Given the description of an element on the screen output the (x, y) to click on. 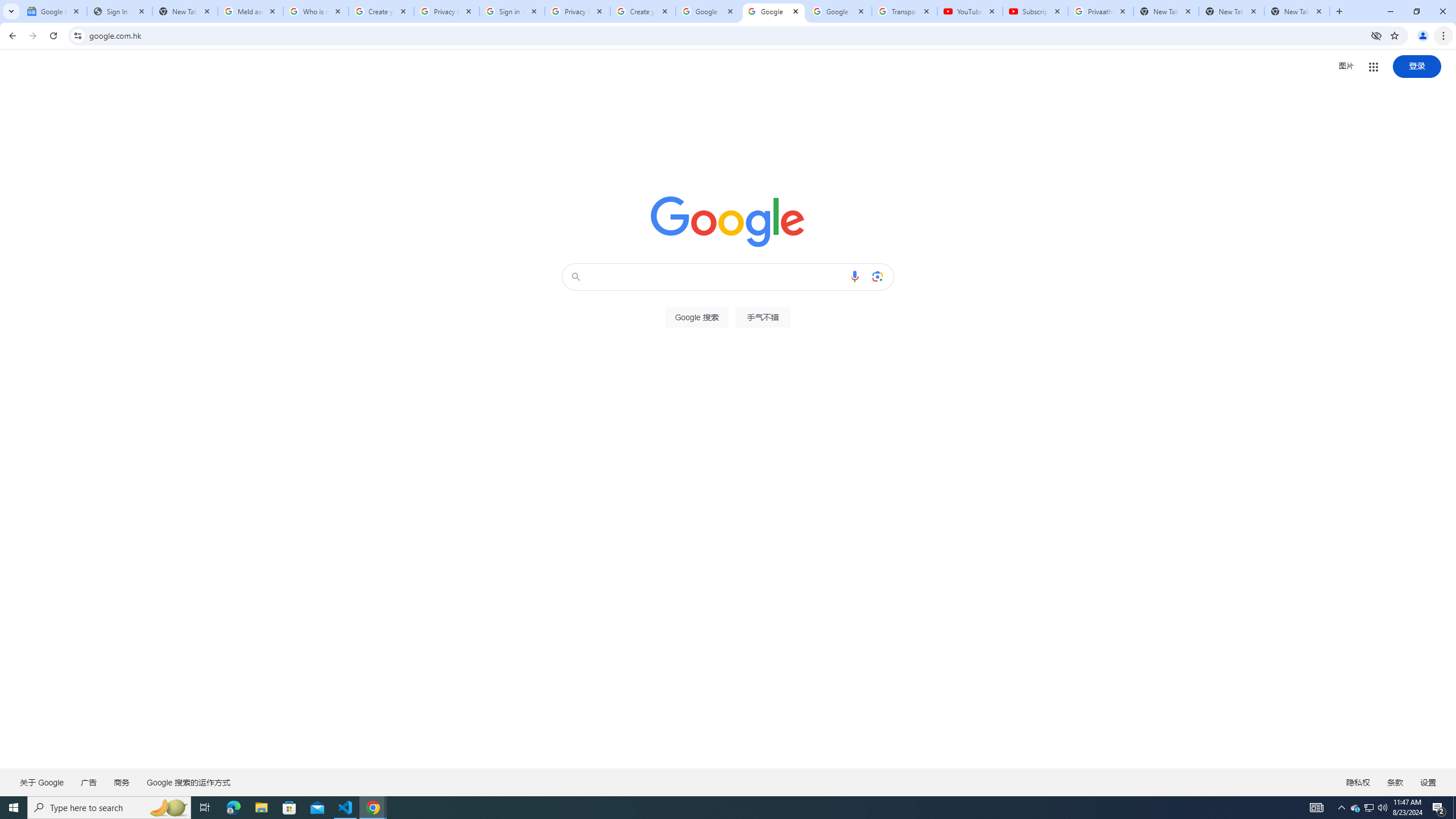
Sign In - USA TODAY (119, 11)
